Given the description of an element on the screen output the (x, y) to click on. 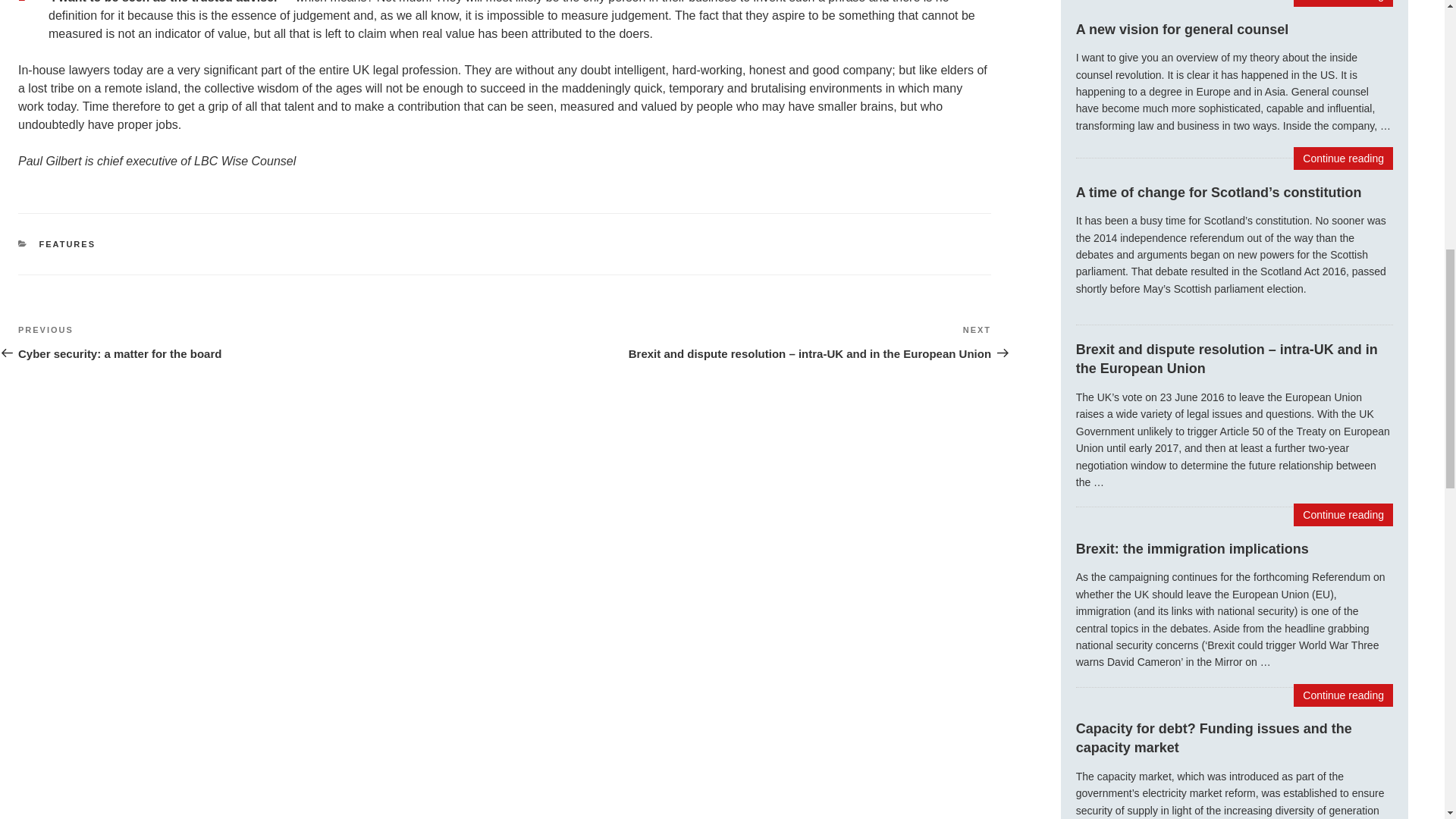
FEATURES (67, 243)
